Given the description of an element on the screen output the (x, y) to click on. 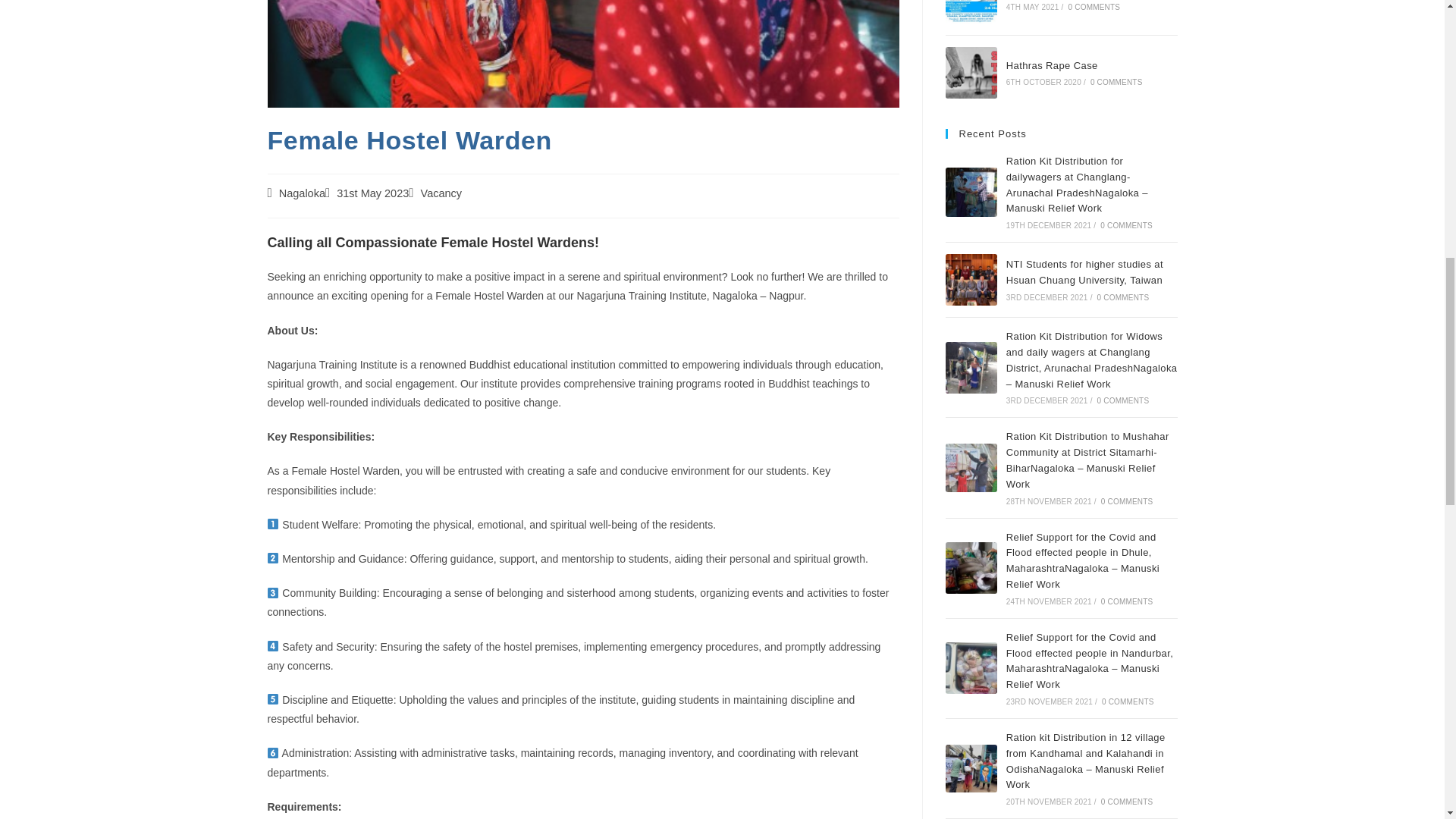
Hathras Rape Case (969, 72)
Posts by Nagaloka (301, 193)
Covid Care Centre at Nagaloka (969, 11)
